Given the description of an element on the screen output the (x, y) to click on. 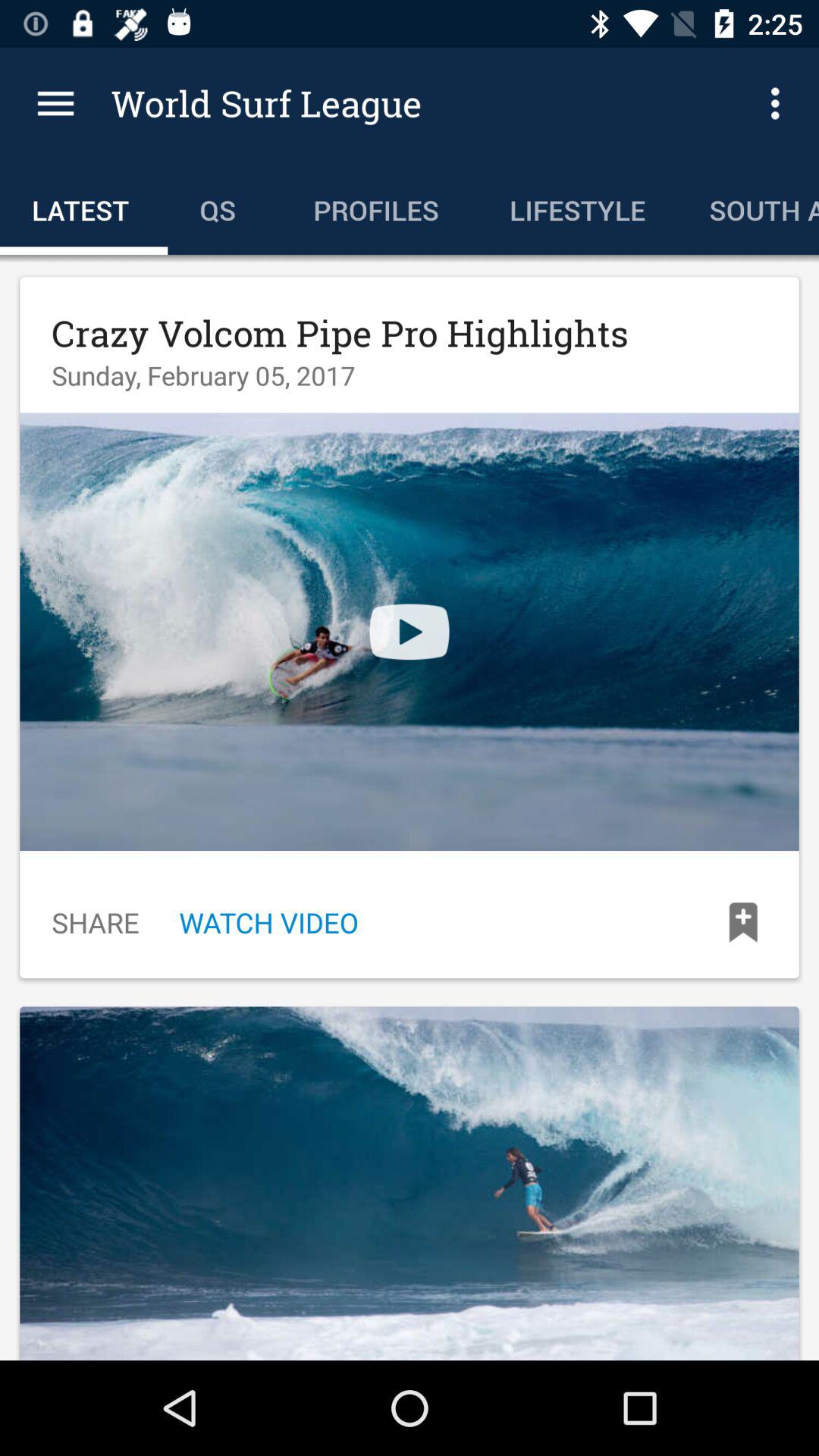
click the item to the right of the lifestyle item (748, 206)
